Given the description of an element on the screen output the (x, y) to click on. 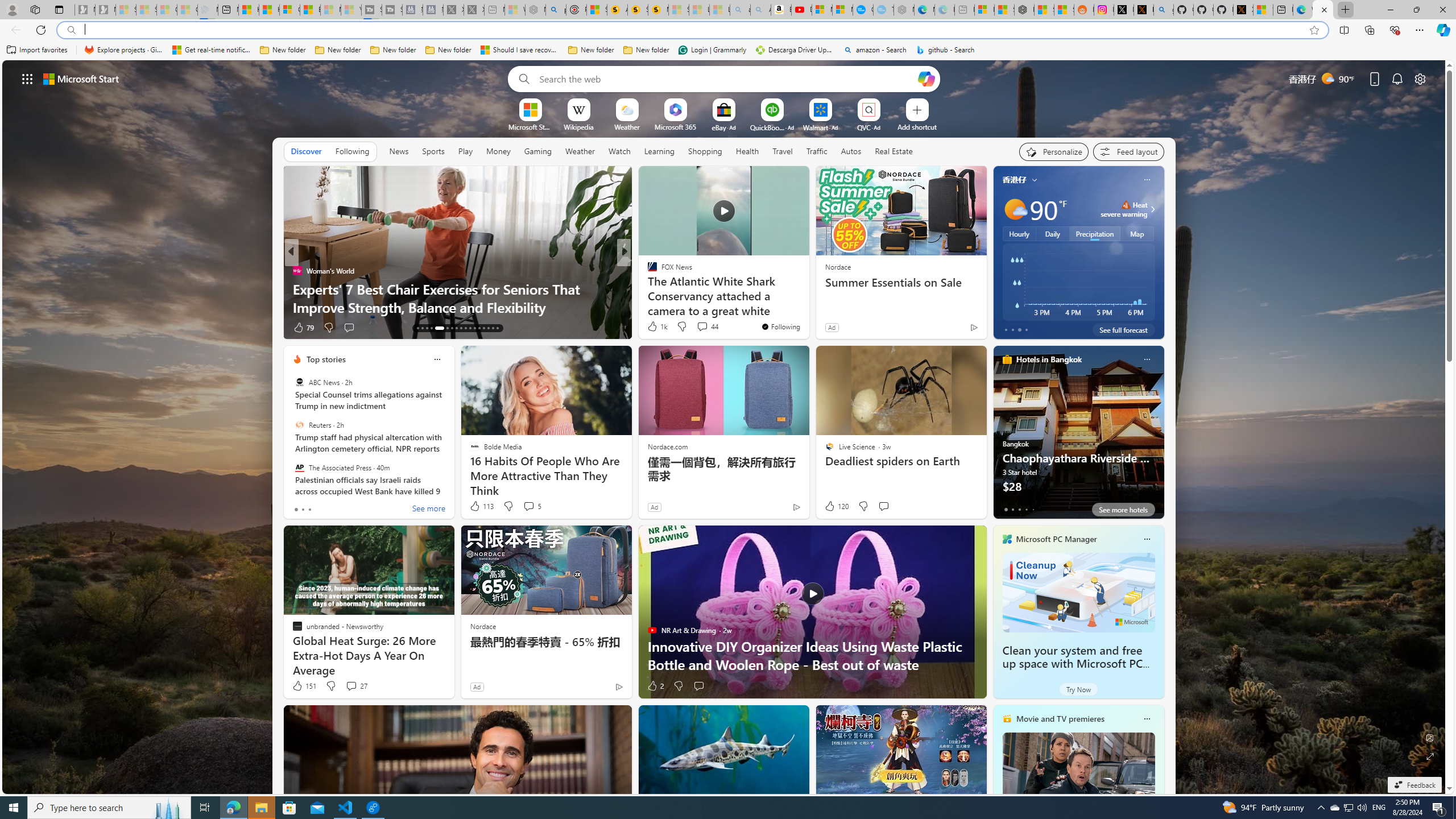
Nordace (483, 625)
New Tab (1346, 9)
Money (498, 151)
Fox Business (647, 288)
Class: weather-arrow-glyph (1152, 208)
Class: icon-img (1146, 718)
View comments 77 Comment (703, 327)
151 Like (303, 685)
Microsoft account | Microsoft Account Privacy Settings (983, 9)
Open Copilot (925, 78)
Feed settings (1128, 151)
